Given the description of an element on the screen output the (x, y) to click on. 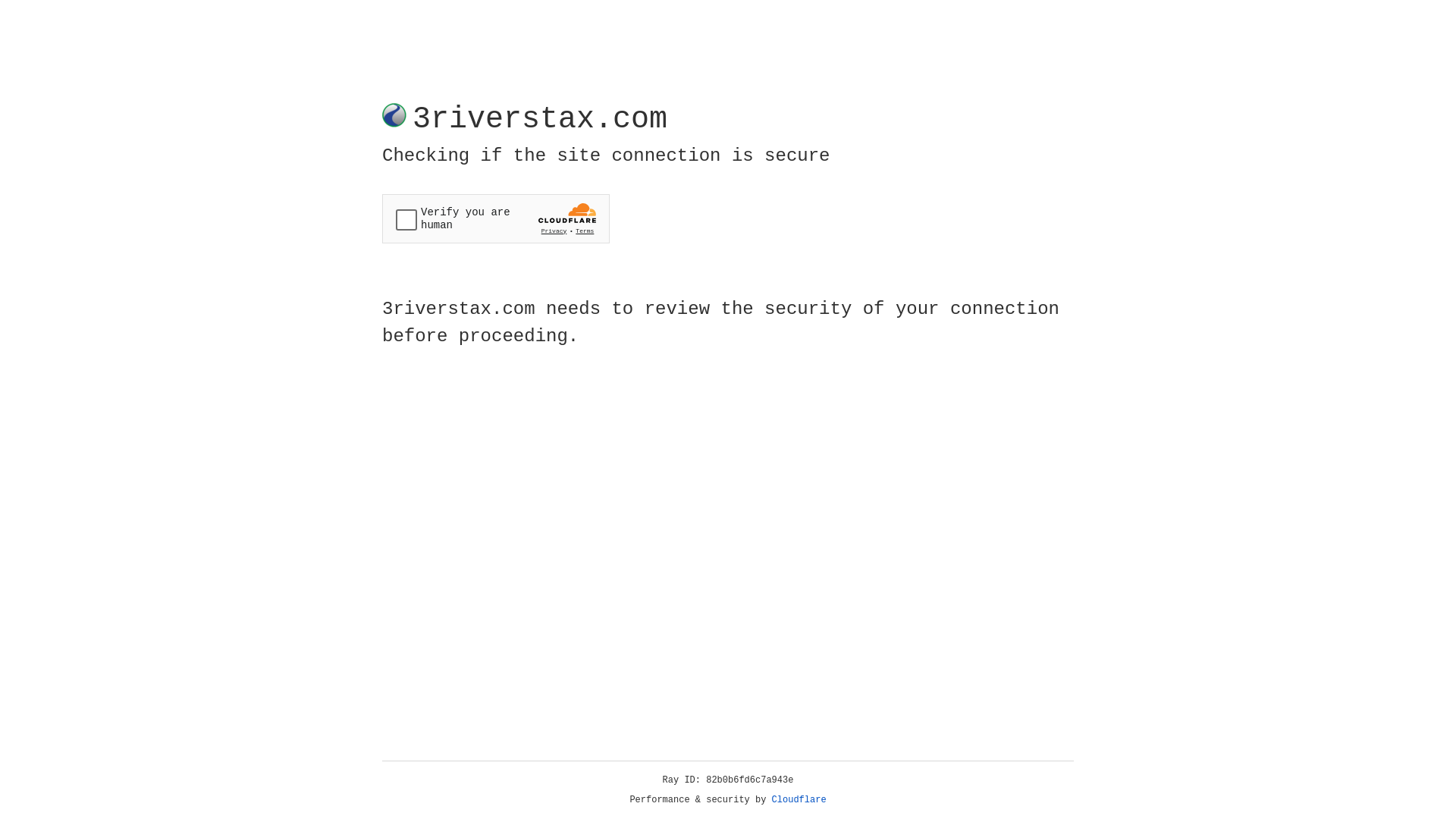
Widget containing a Cloudflare security challenge Element type: hover (495, 218)
Cloudflare Element type: text (798, 799)
